Given the description of an element on the screen output the (x, y) to click on. 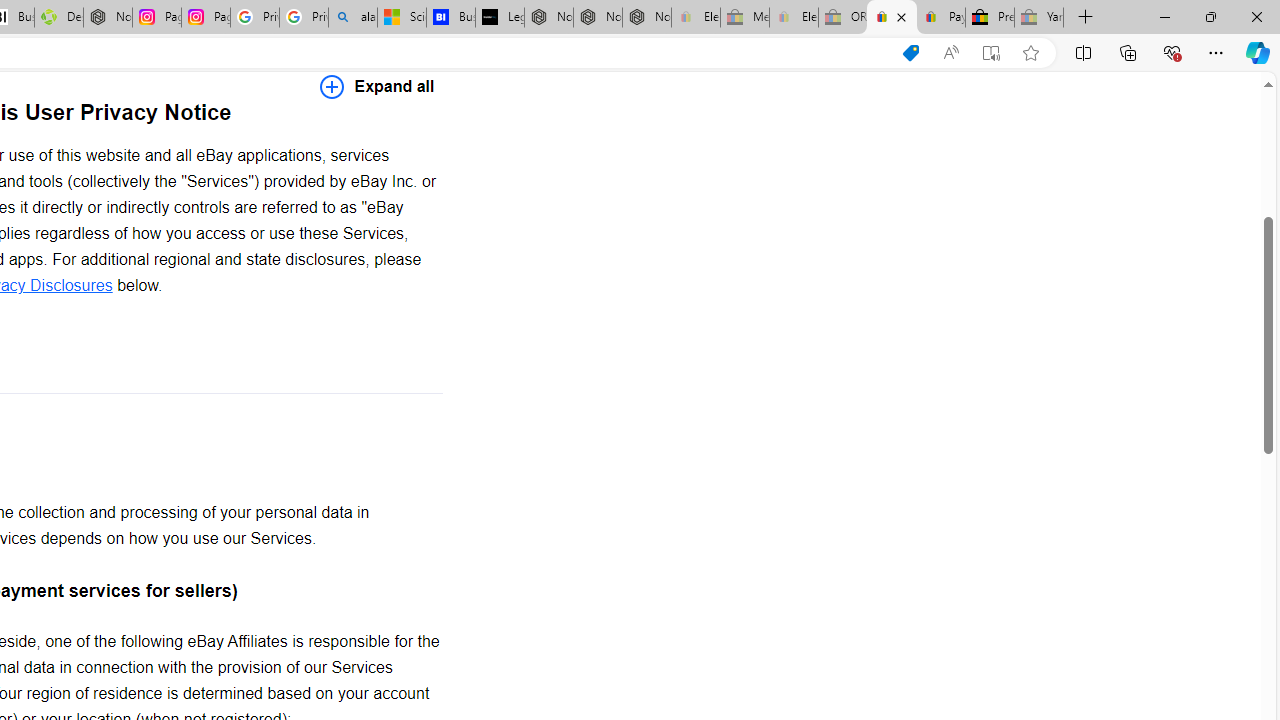
Expand all (377, 86)
